Given the description of an element on the screen output the (x, y) to click on. 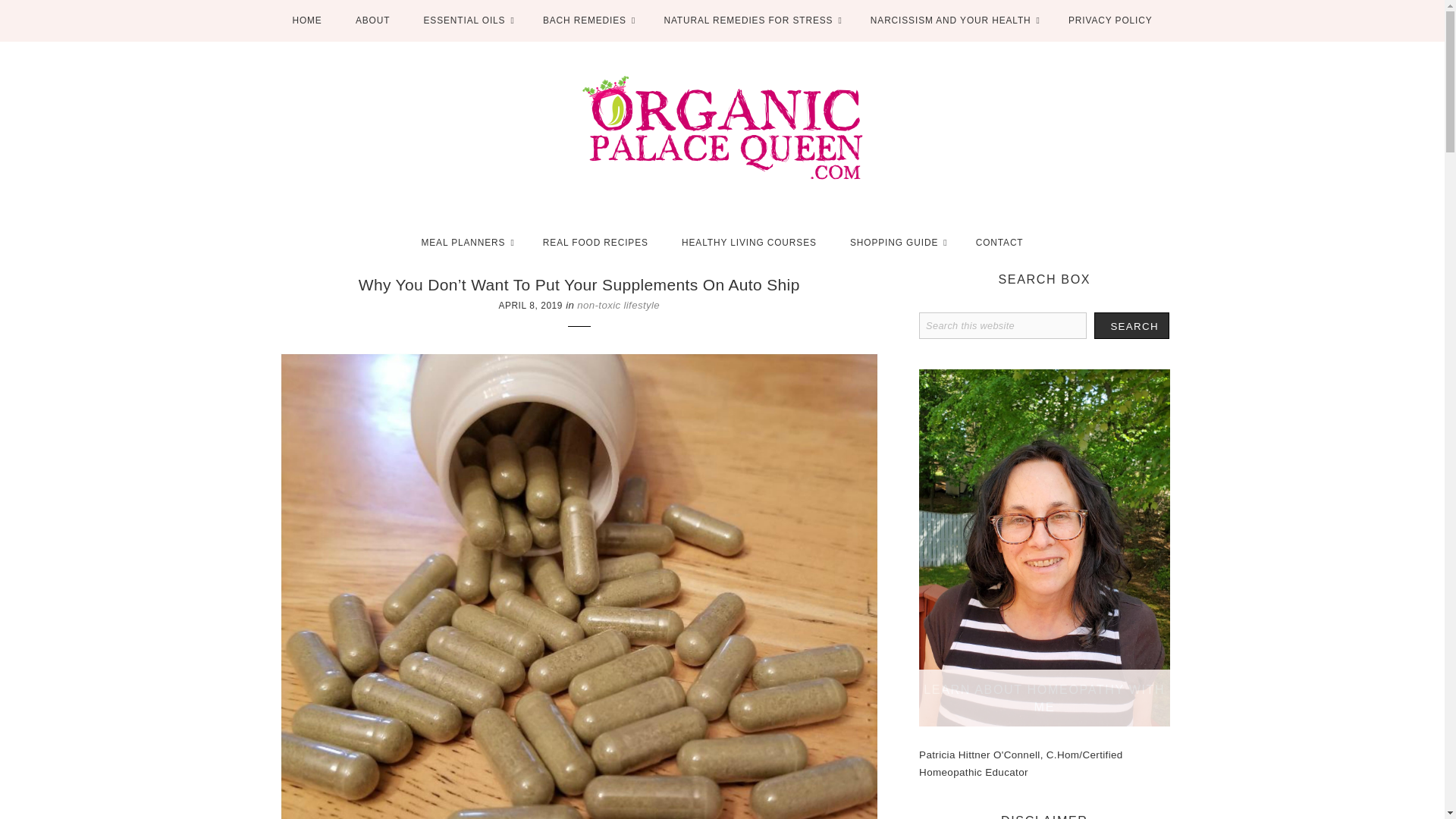
Search (1131, 325)
Search (1131, 325)
